Given the description of an element on the screen output the (x, y) to click on. 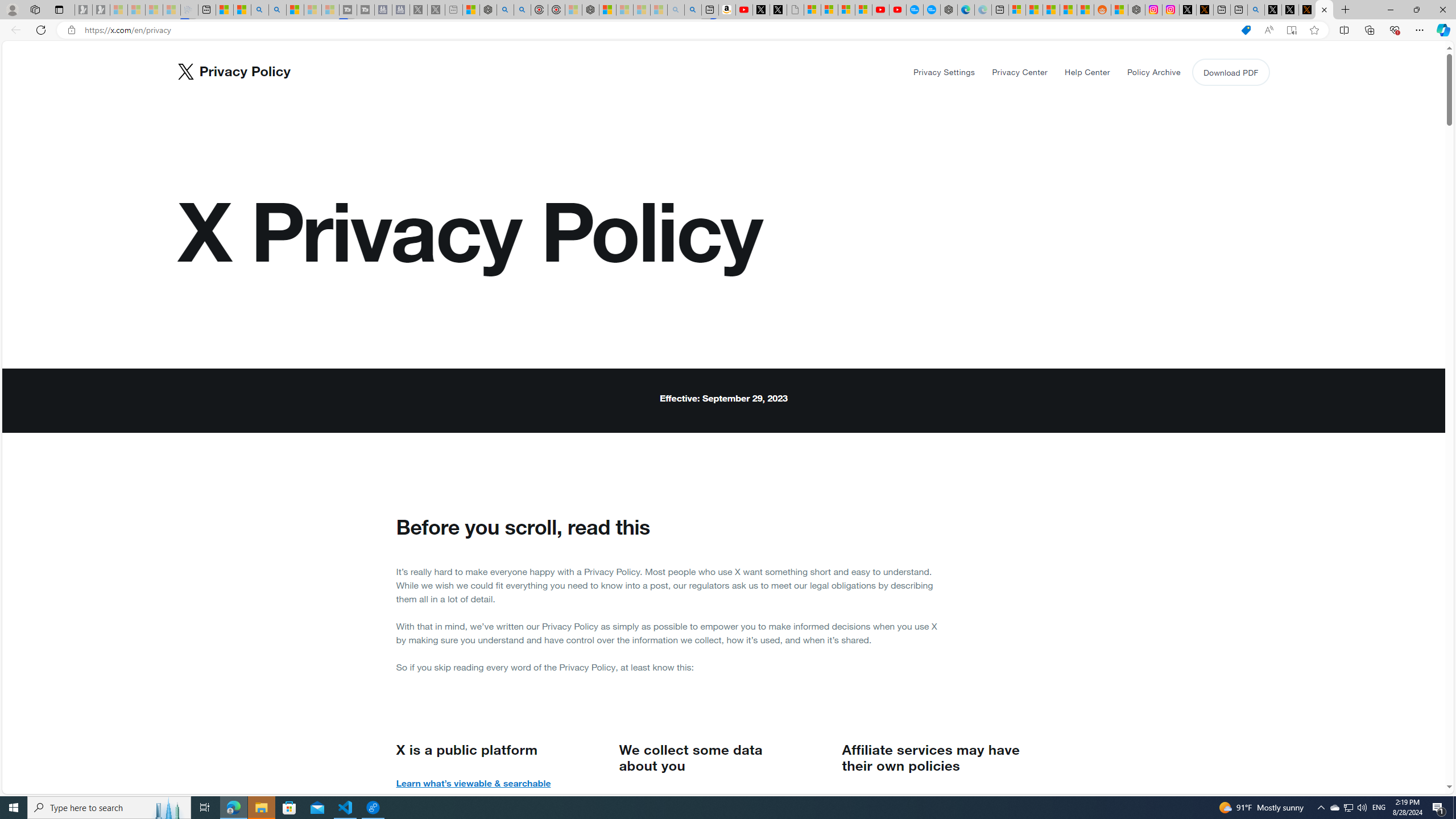
Streaming Coverage | T3 - Sleeping (347, 9)
Shanghai, China hourly forecast | Microsoft Weather (1051, 9)
Settings and more (Alt+F) (1419, 29)
Download PDF (1230, 71)
Shanghai, China weather forecast | Microsoft Weather (1034, 9)
Shanghai, China Weather trends | Microsoft Weather (1085, 9)
Search (277, 9)
New Tab (1346, 9)
Address and search bar (658, 29)
